Given the description of an element on the screen output the (x, y) to click on. 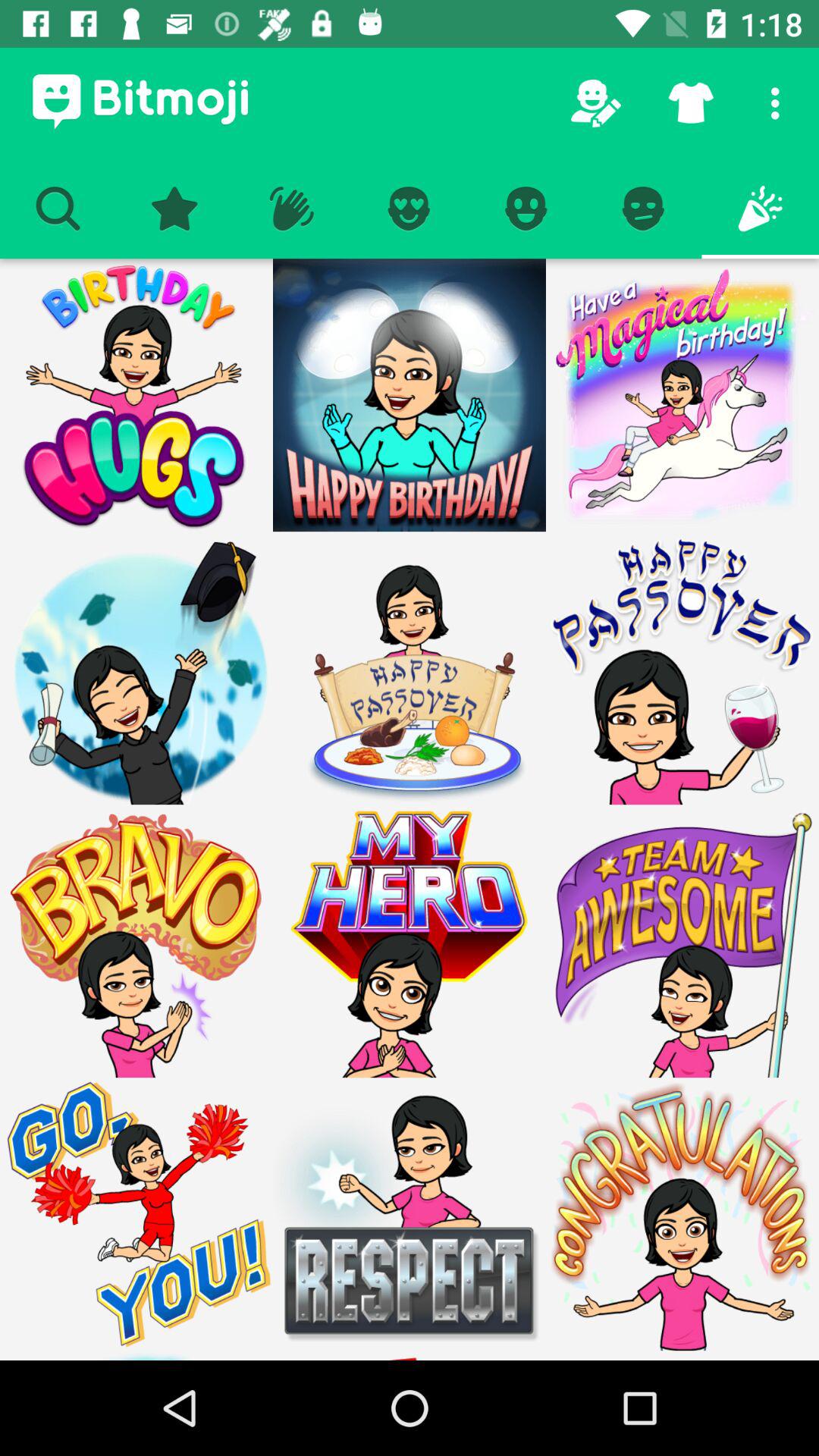
click to bravo (136, 940)
